Given the description of an element on the screen output the (x, y) to click on. 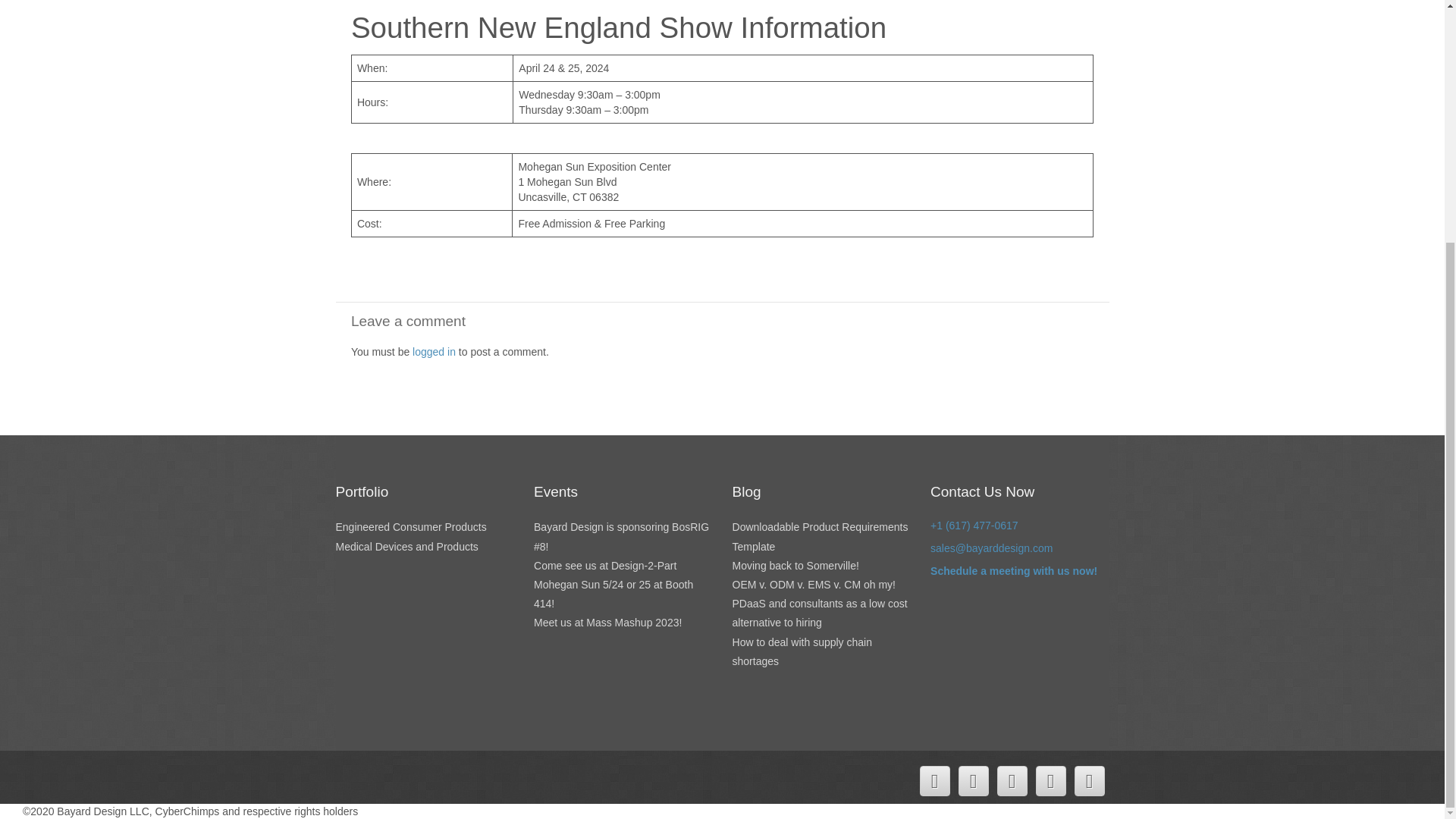
Schedule a meeting with us now! (1013, 571)
Medical Devices and Products (405, 546)
Bayard Design Twitter (933, 780)
Meet us at Mass Mashup 2023! (607, 622)
Moving back to Somerville! (795, 565)
How to deal with supply chain shortages (802, 651)
Bayard Design Linkedin (1010, 780)
Bayard Design Email (1088, 780)
Bayard Design Google Maps (1050, 780)
PDaaS and consultants as a low cost alternative to hiring (819, 612)
